Given the description of an element on the screen output the (x, y) to click on. 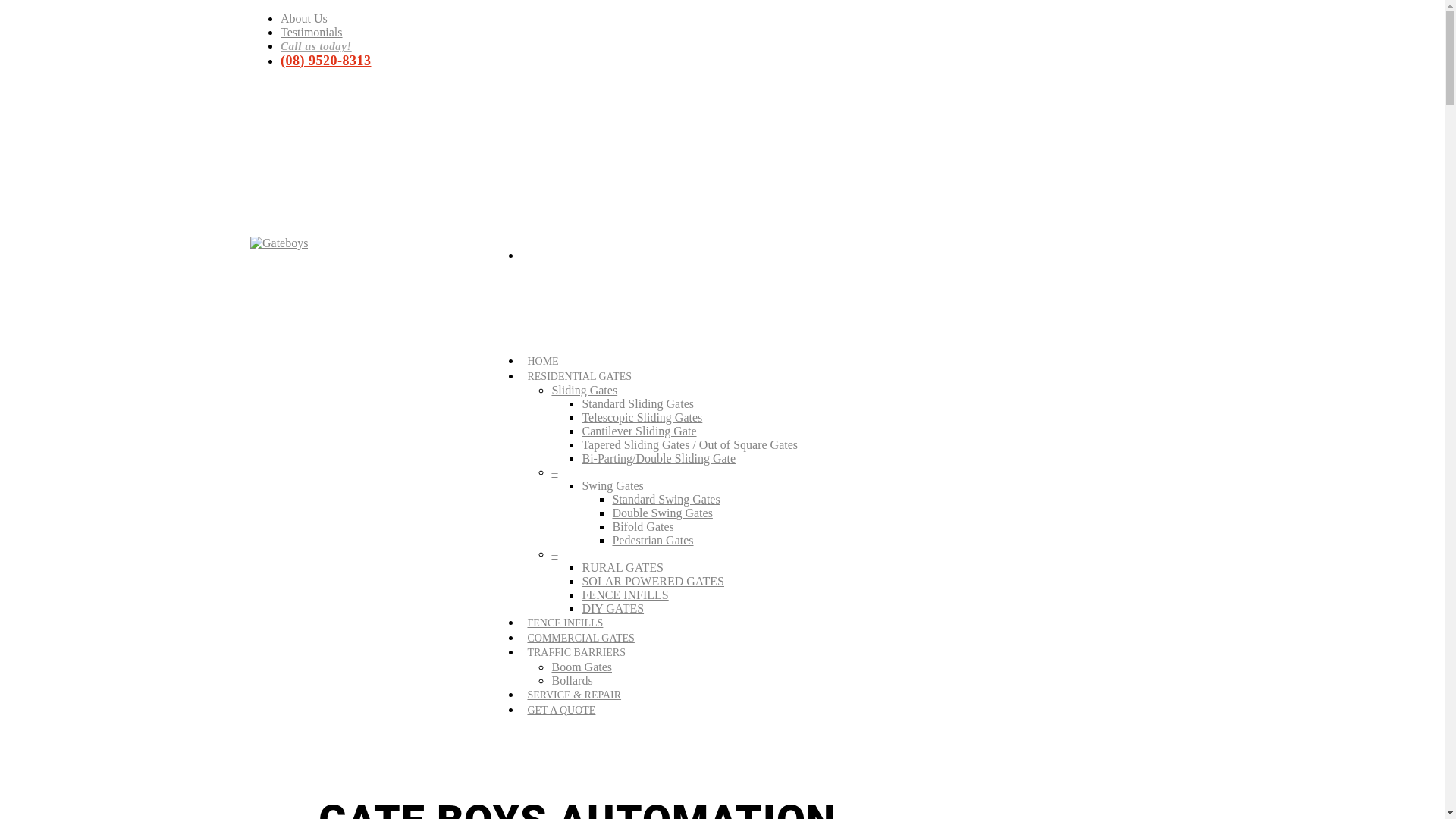
Double Swing Gates Element type: text (661, 512)
Tapered Sliding Gates / Out of Square Gates Element type: text (689, 444)
RURAL GATES Element type: text (621, 567)
(08) 9520-8313 Element type: text (325, 60)
Boom Gates Element type: text (581, 666)
Call us today! Element type: text (315, 46)
COMMERCIAL GATES Element type: text (580, 641)
Standard Sliding Gates Element type: text (637, 403)
SOLAR POWERED GATES Element type: text (652, 580)
Pedestrian Gates Element type: text (652, 539)
GET A QUOTE Element type: text (561, 713)
Sliding Gates Element type: text (584, 389)
About Us Element type: text (303, 18)
RESIDENTIAL GATES Element type: text (579, 380)
Telescopic Sliding Gates Element type: text (641, 417)
FENCE INFILLS Element type: text (564, 626)
TRAFFIC BARRIERS Element type: text (576, 656)
HOME Element type: text (542, 364)
SERVICE & REPAIR Element type: text (574, 698)
Bifold Gates Element type: text (642, 526)
Bollards Element type: text (571, 680)
Testimonials Element type: text (311, 31)
Swing Gates Element type: text (612, 485)
Standard Swing Gates Element type: text (665, 498)
Bi-Parting/Double Sliding Gate Element type: text (658, 457)
DIY GATES Element type: text (612, 608)
FENCE INFILLS Element type: text (624, 594)
Cantilever Sliding Gate Element type: text (638, 430)
